Given the description of an element on the screen output the (x, y) to click on. 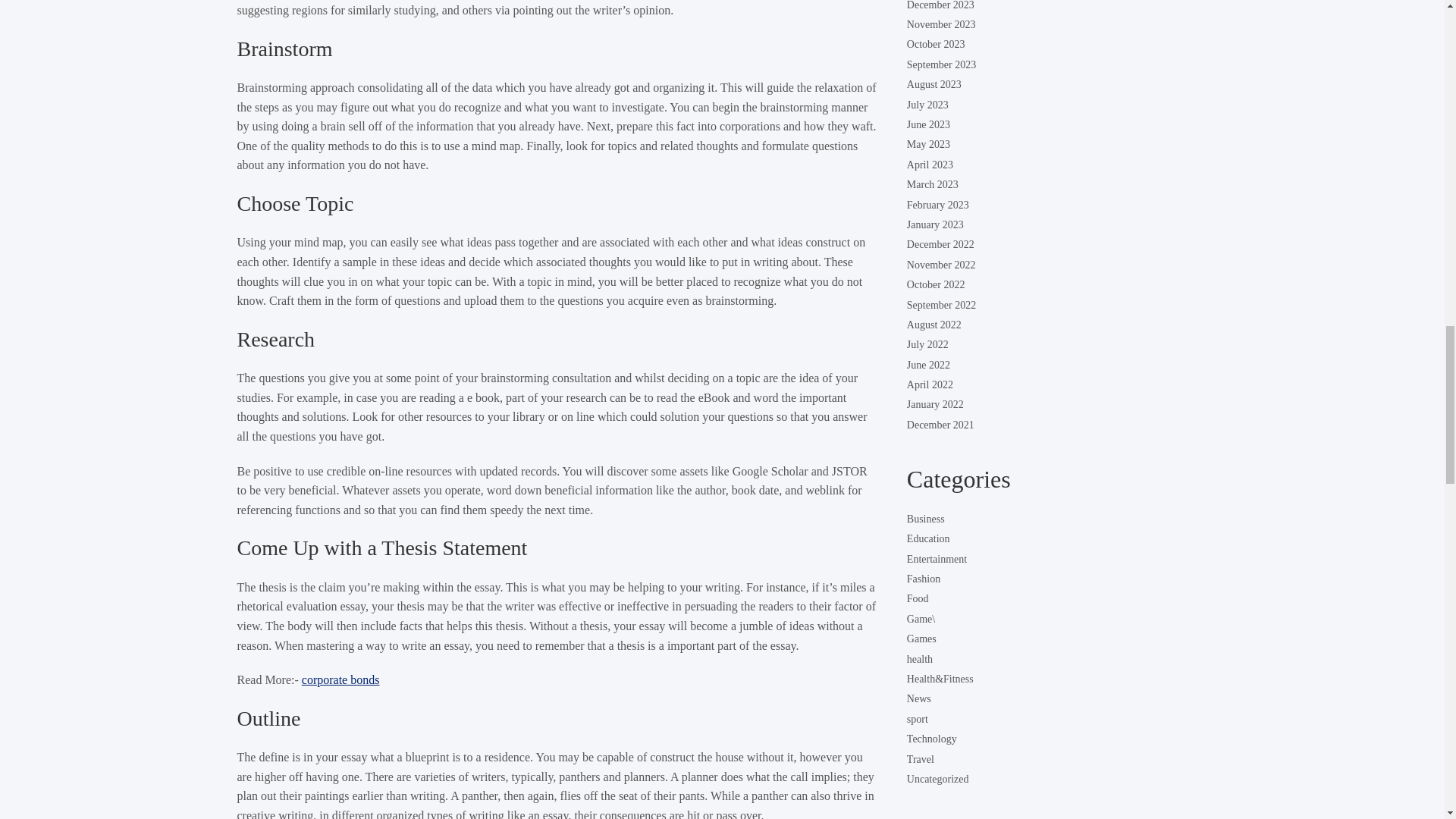
corporate bonds (340, 679)
